Given the description of an element on the screen output the (x, y) to click on. 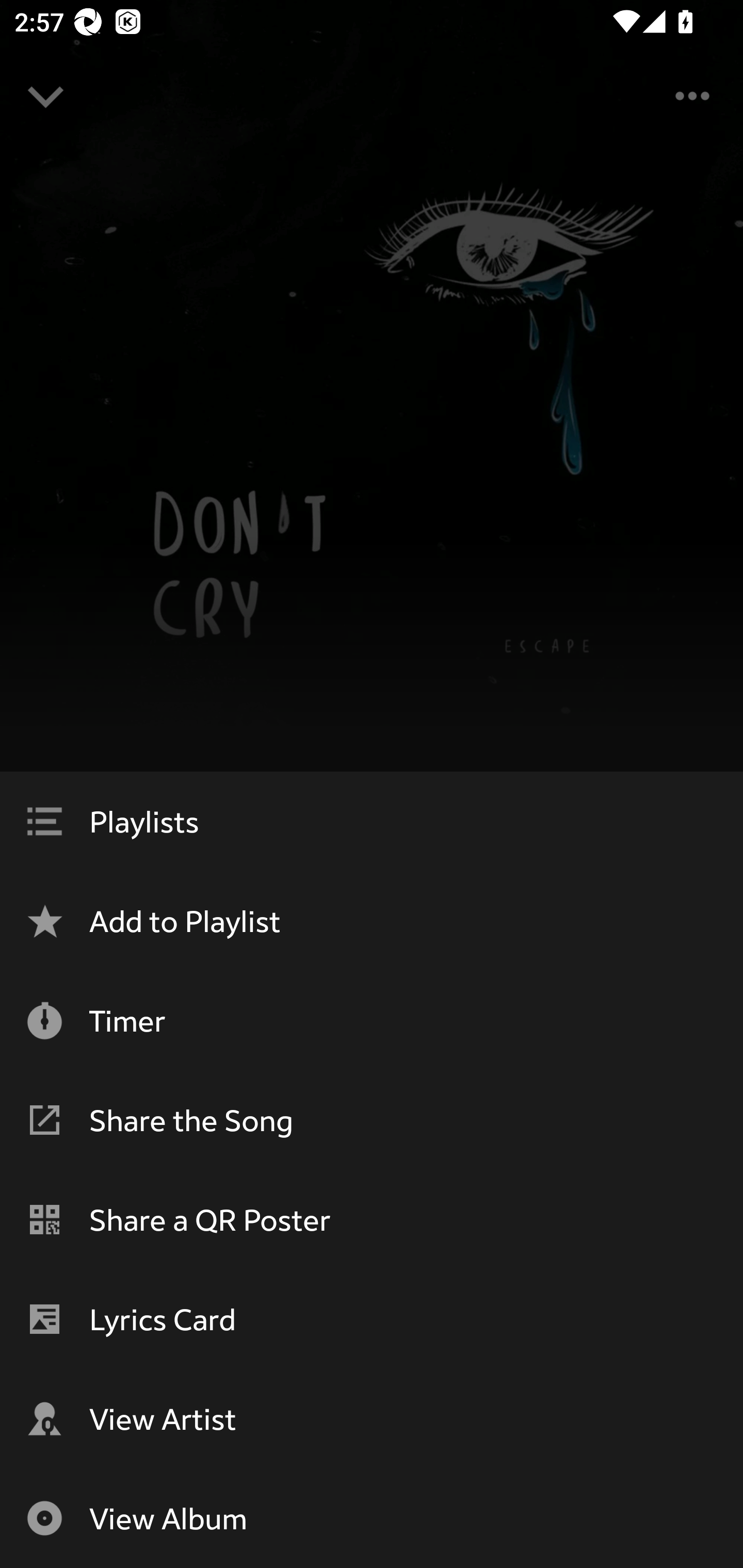
Playlists (371, 821)
Add to Playlist (371, 920)
Timer (371, 1020)
Share the Song (371, 1119)
Share a QR Poster (371, 1219)
Lyrics Card (371, 1319)
View Artist (371, 1418)
View Album (371, 1518)
